Given the description of an element on the screen output the (x, y) to click on. 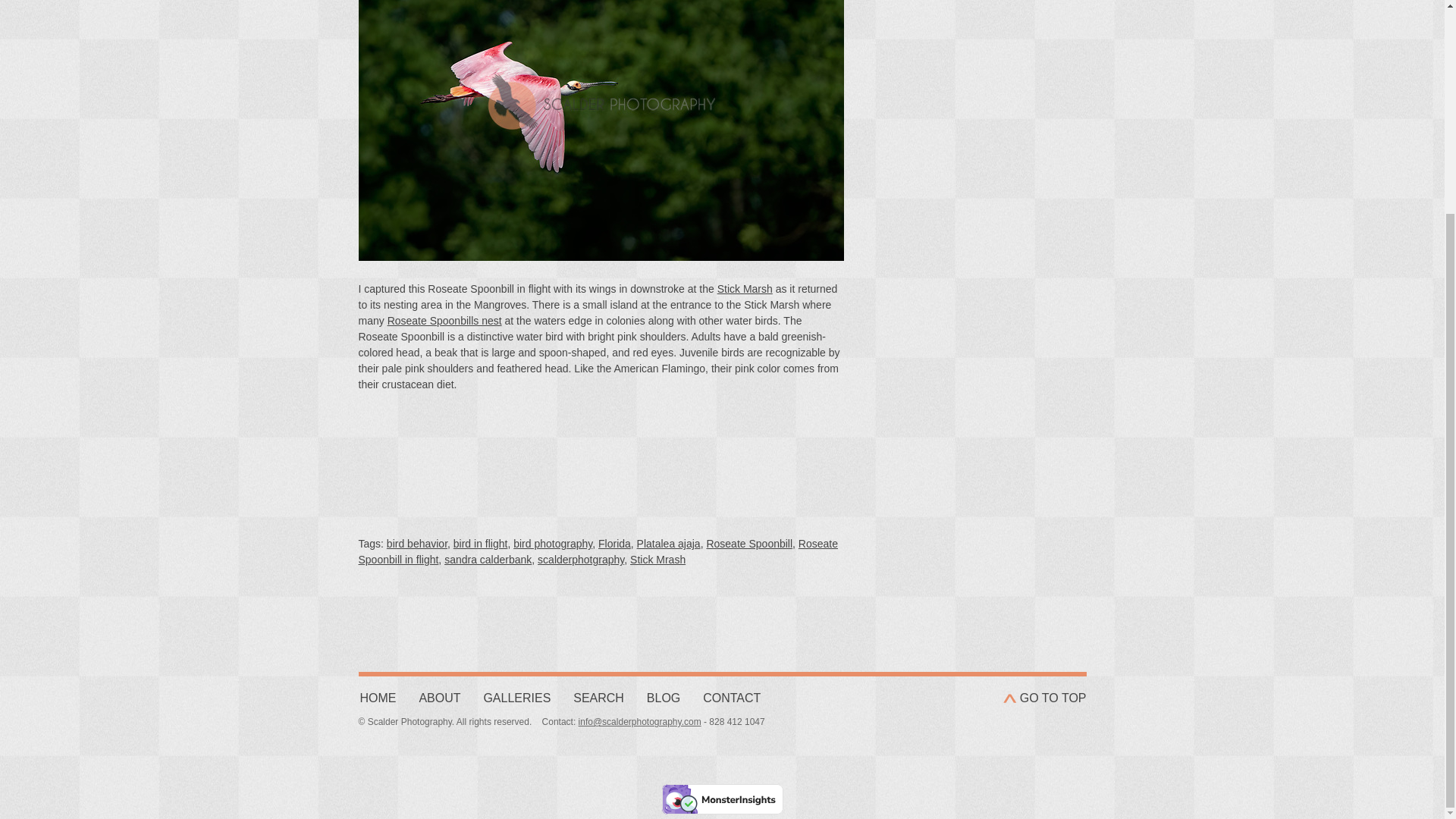
SEARCH (598, 697)
Roseate Spoonbill in flight (598, 551)
Roseate Spoonbill in flight with wings in downstroke (600, 130)
BLOG (662, 697)
bird photography (552, 543)
Platalea ajaja (668, 543)
Stick Marsh (745, 288)
bird in flight (480, 543)
Roseate Spoonbill (749, 543)
Homepage (377, 697)
GALLERIES (516, 697)
ABOUT (439, 697)
HOME (377, 697)
CONTACT (731, 697)
Roseate Spoonbills nest (444, 320)
